Given the description of an element on the screen output the (x, y) to click on. 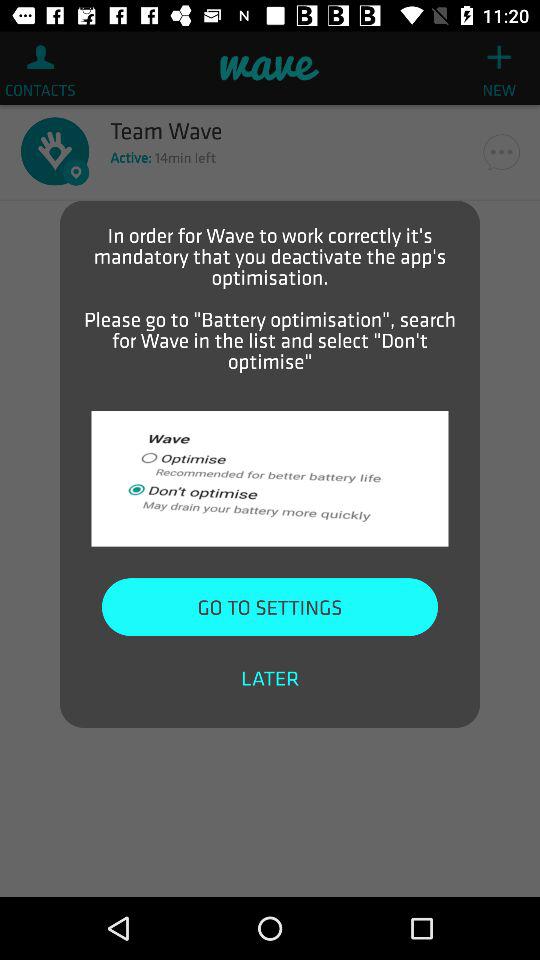
swipe to later item (269, 677)
